Given the description of an element on the screen output the (x, y) to click on. 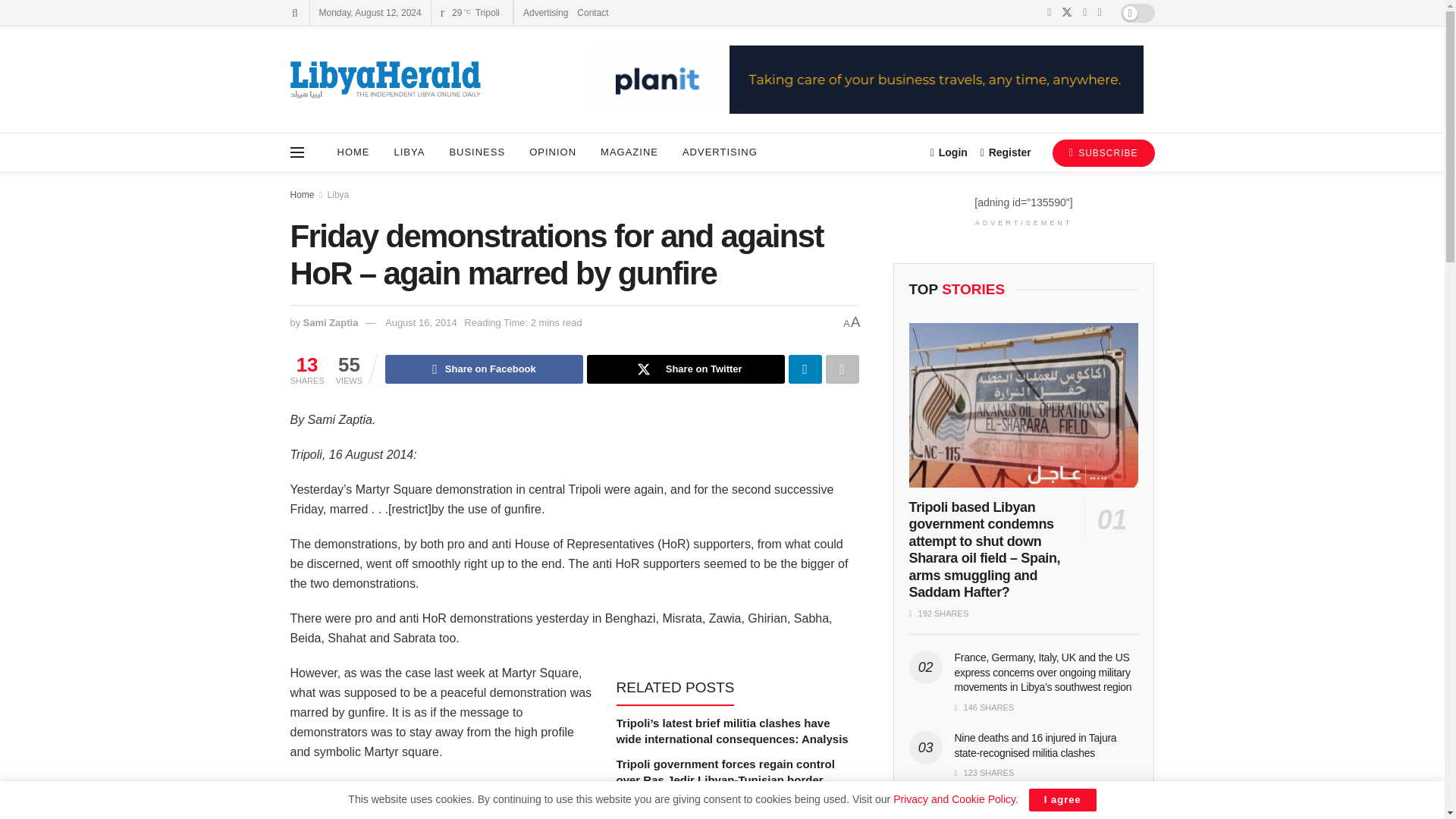
Contact (592, 12)
BUSINESS (476, 152)
August 16, 2014 (421, 322)
MAGAZINE (628, 152)
Libya (338, 194)
Advertising (544, 12)
ADVERTISING (719, 152)
SUBSCRIBE (1103, 153)
Sami Zaptia (330, 322)
Home (301, 194)
